Given the description of an element on the screen output the (x, y) to click on. 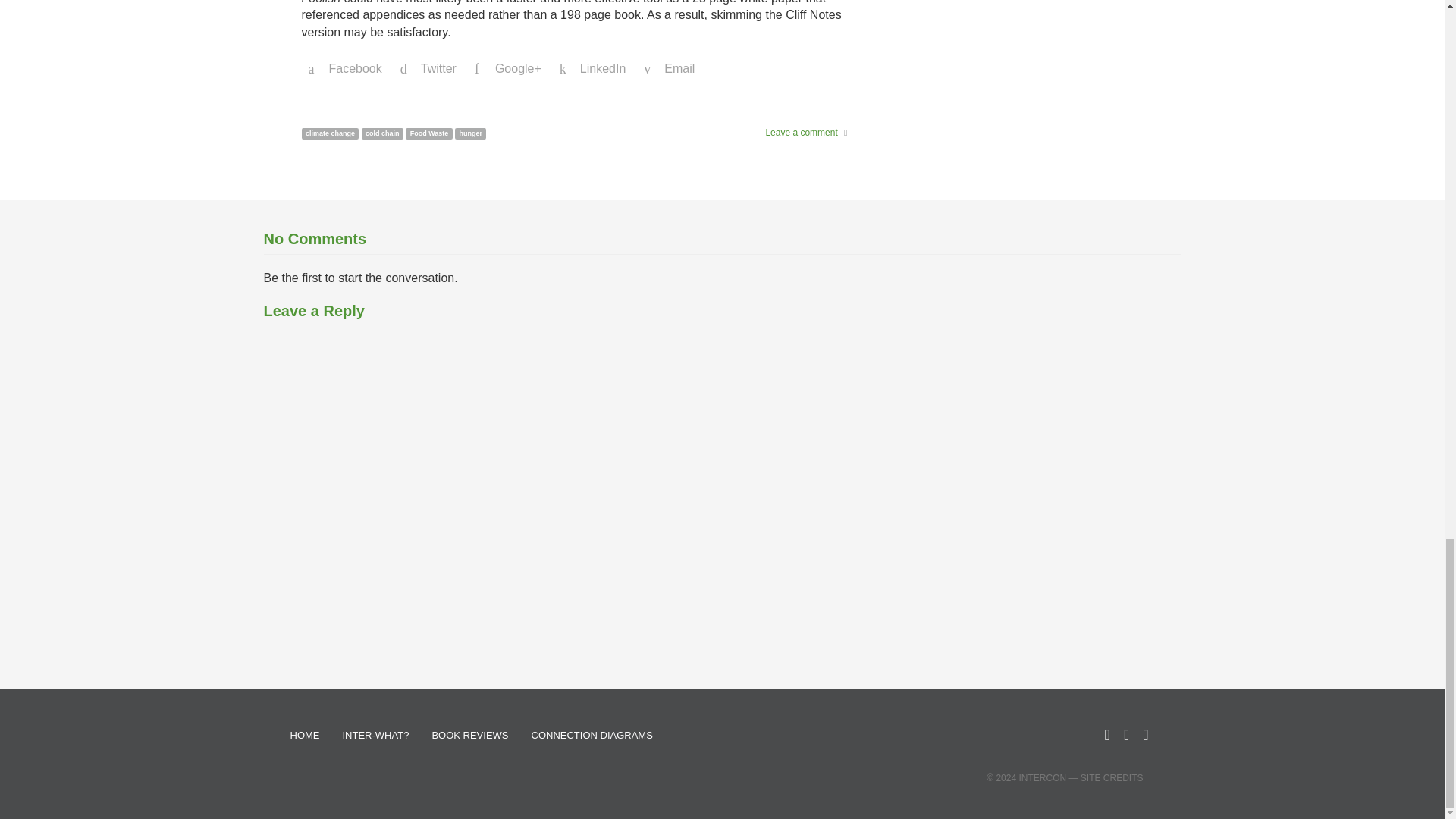
climate change (330, 132)
Facebook (345, 68)
Connection Diagrams (591, 735)
Email (669, 68)
LinkedIn (593, 68)
INTER-WHAT? (375, 735)
HOME (305, 735)
BOOK REVIEWS (469, 735)
cold chain (382, 132)
INTERCON (1041, 777)
Home (305, 735)
hunger (470, 132)
Leave a comment (801, 132)
CONNECTION DIAGRAMS (591, 735)
